Given the description of an element on the screen output the (x, y) to click on. 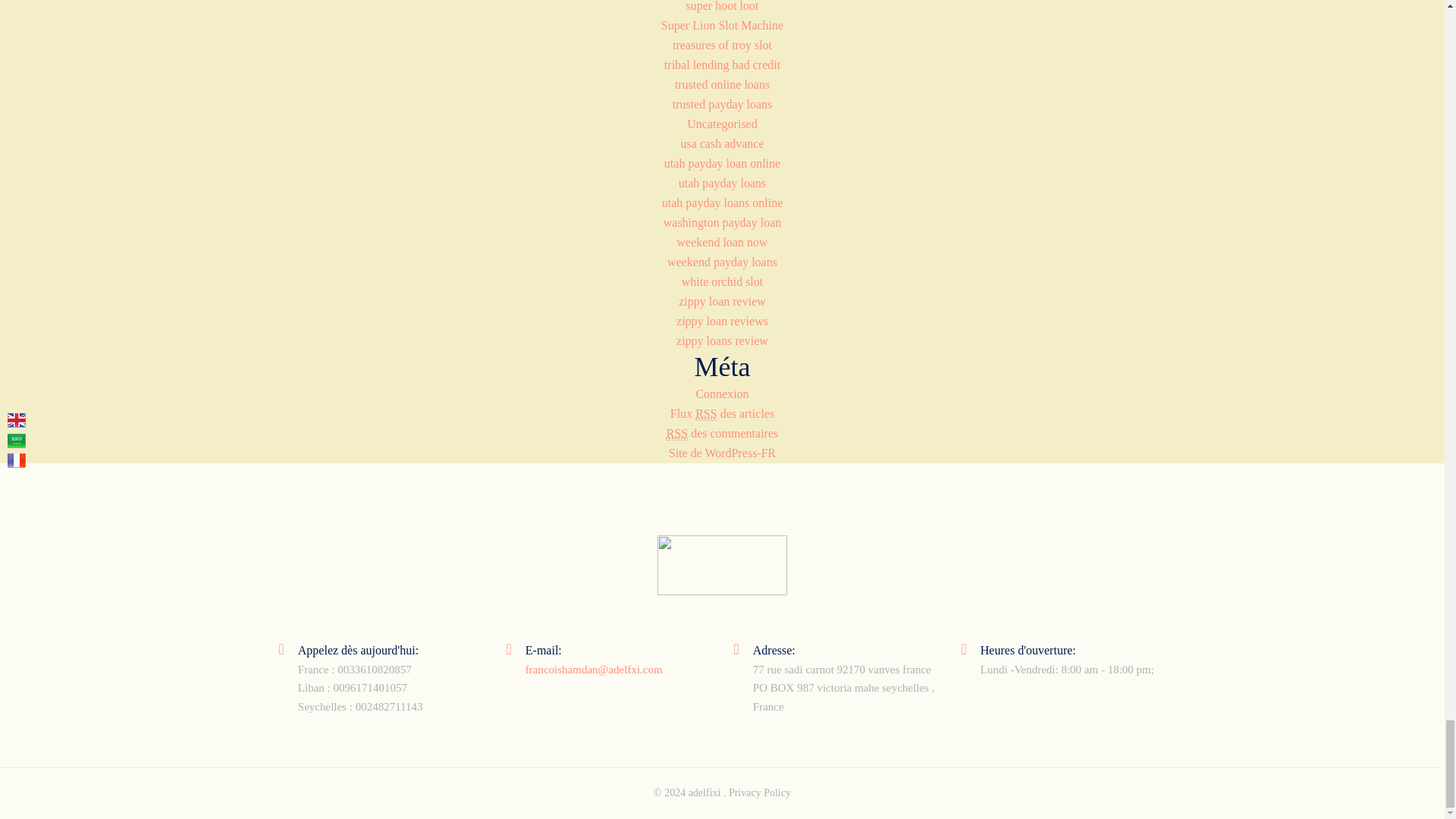
Really Simple Syndication (705, 413)
Really Simple Syndication (676, 433)
